Given the description of an element on the screen output the (x, y) to click on. 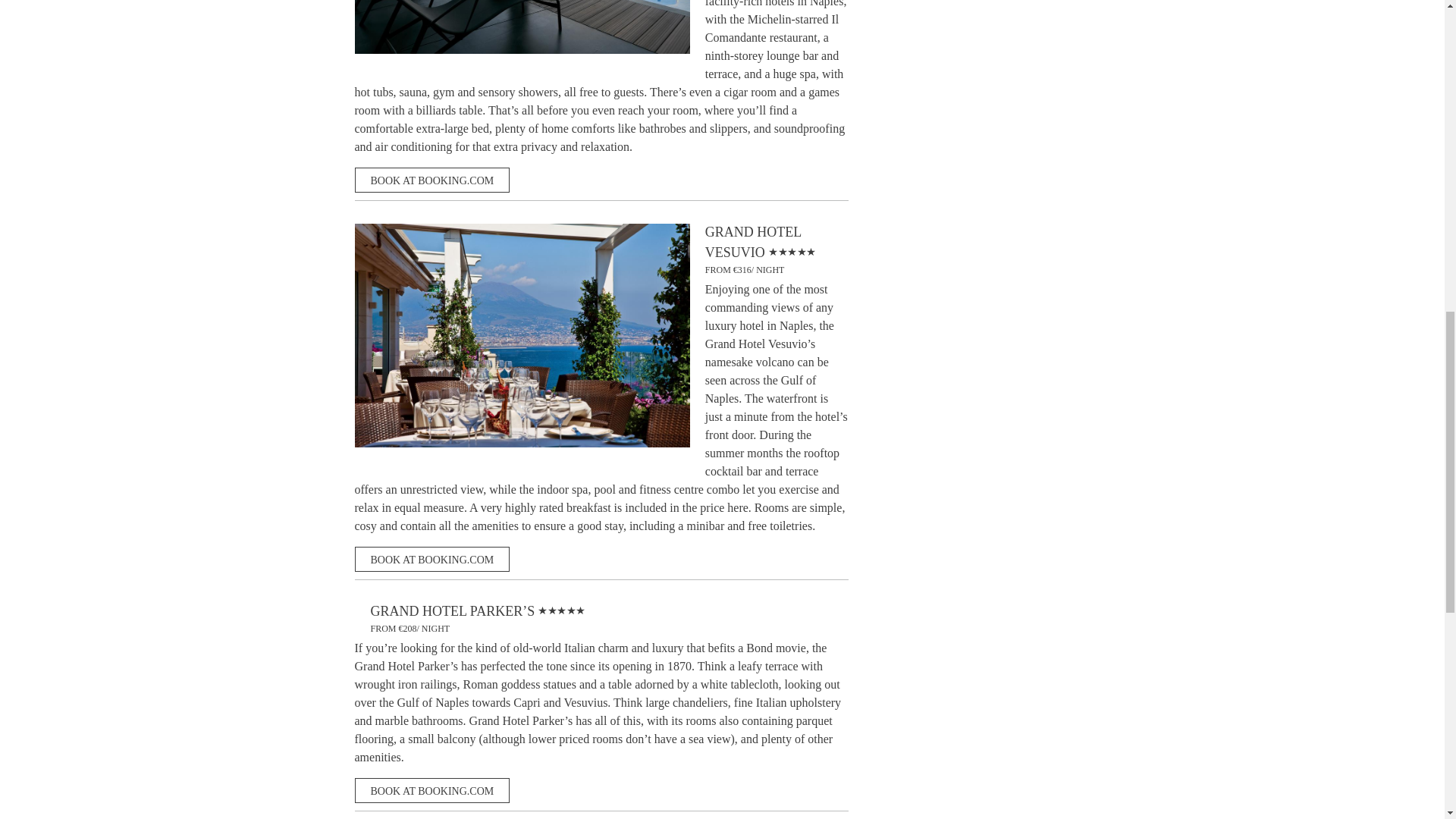
BOOK AT BOOKING.COM (433, 790)
BOOK AT BOOKING.COM (433, 559)
BOOK AT BOOKING.COM (433, 179)
